Given the description of an element on the screen output the (x, y) to click on. 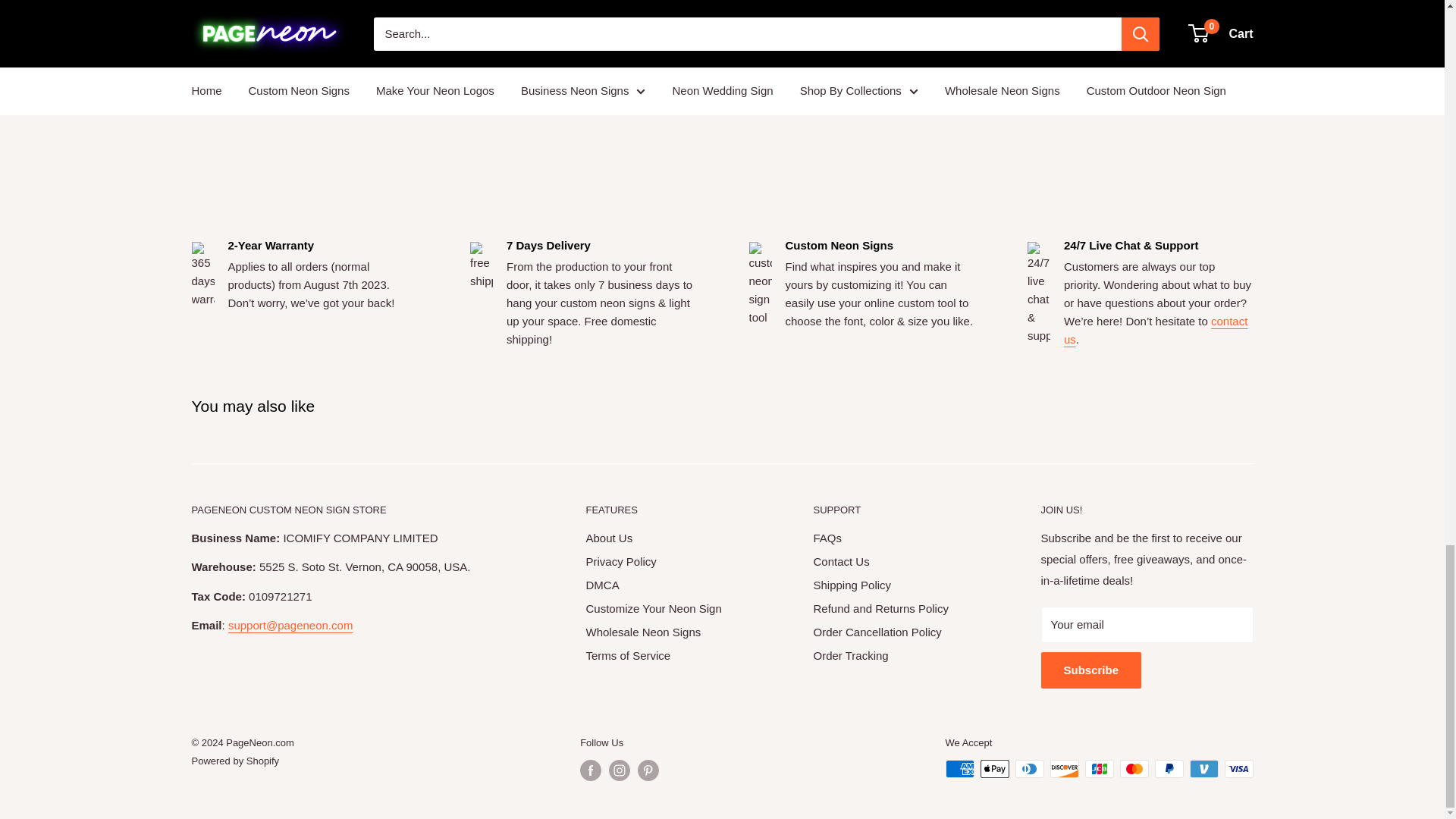
Contact Us (1155, 329)
